Given the description of an element on the screen output the (x, y) to click on. 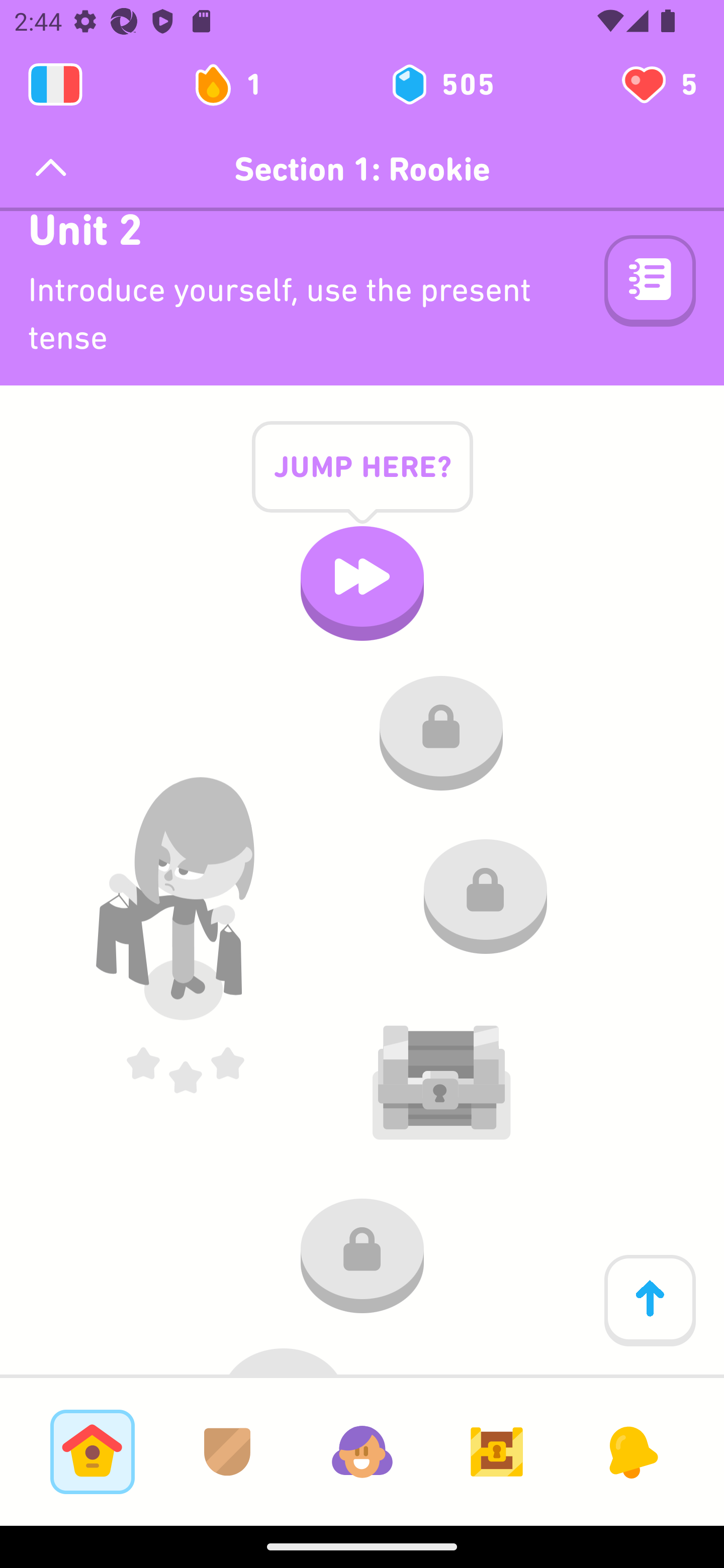
Learning 2131888976 (55, 84)
1 day streak 1 (236, 84)
505 (441, 84)
You have 5 hearts left 5 (657, 84)
Section 1: Rookie (362, 169)
JUMP HERE? (361, 481)
Learn Tab (91, 1451)
Leagues Tab (227, 1451)
Profile Tab (361, 1451)
Goals Tab (496, 1451)
News Tab (631, 1451)
